Given the description of an element on the screen output the (x, y) to click on. 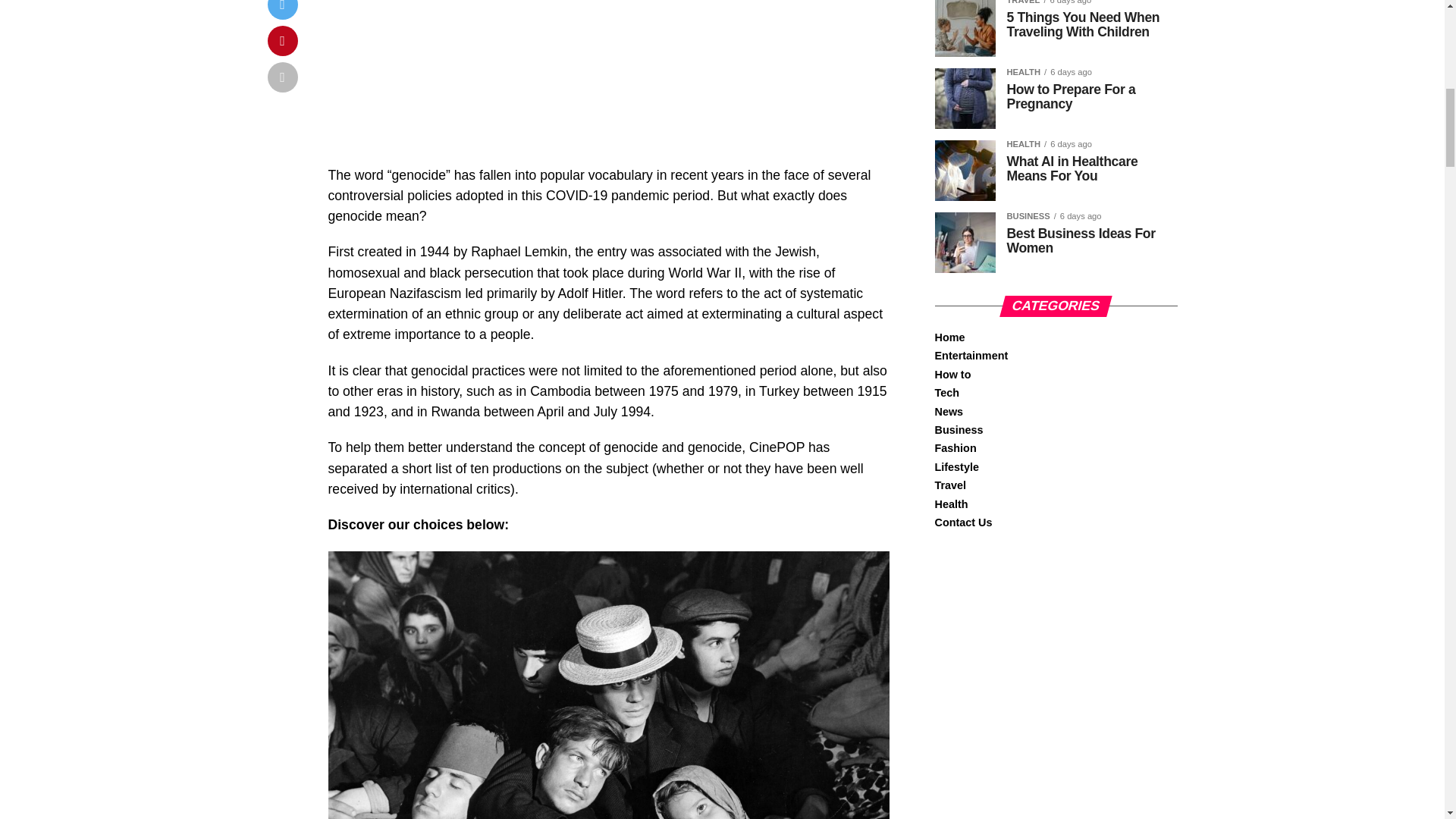
Advertisement (607, 82)
